Given the description of an element on the screen output the (x, y) to click on. 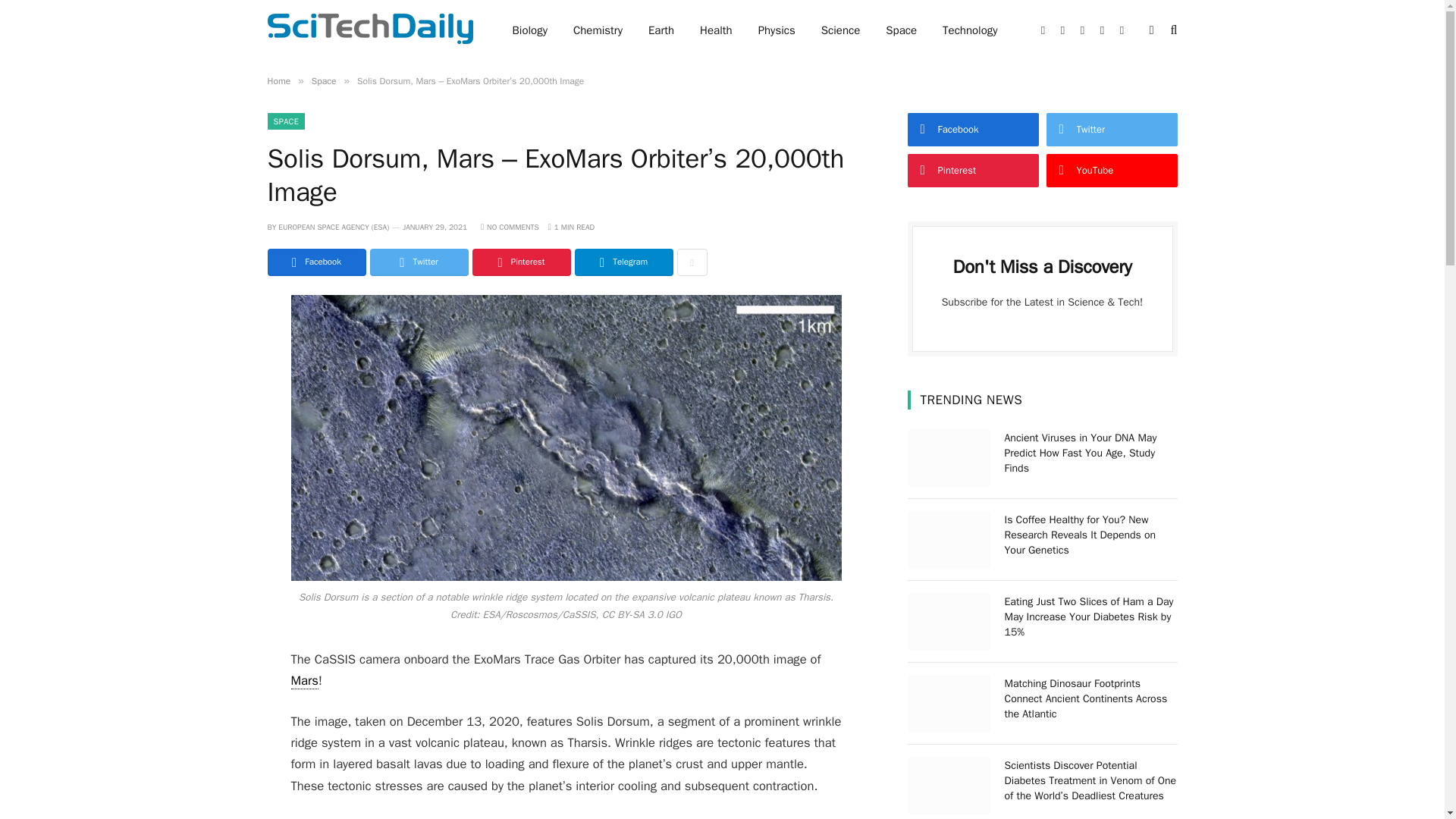
NO COMMENTS (509, 226)
Space (901, 30)
Switch to Dark Design - easier on eyes. (1151, 30)
Chemistry (597, 30)
Biology (529, 30)
Home (277, 80)
Pinterest (520, 262)
Health (716, 30)
Share on Pinterest (520, 262)
Space (323, 80)
